Given the description of an element on the screen output the (x, y) to click on. 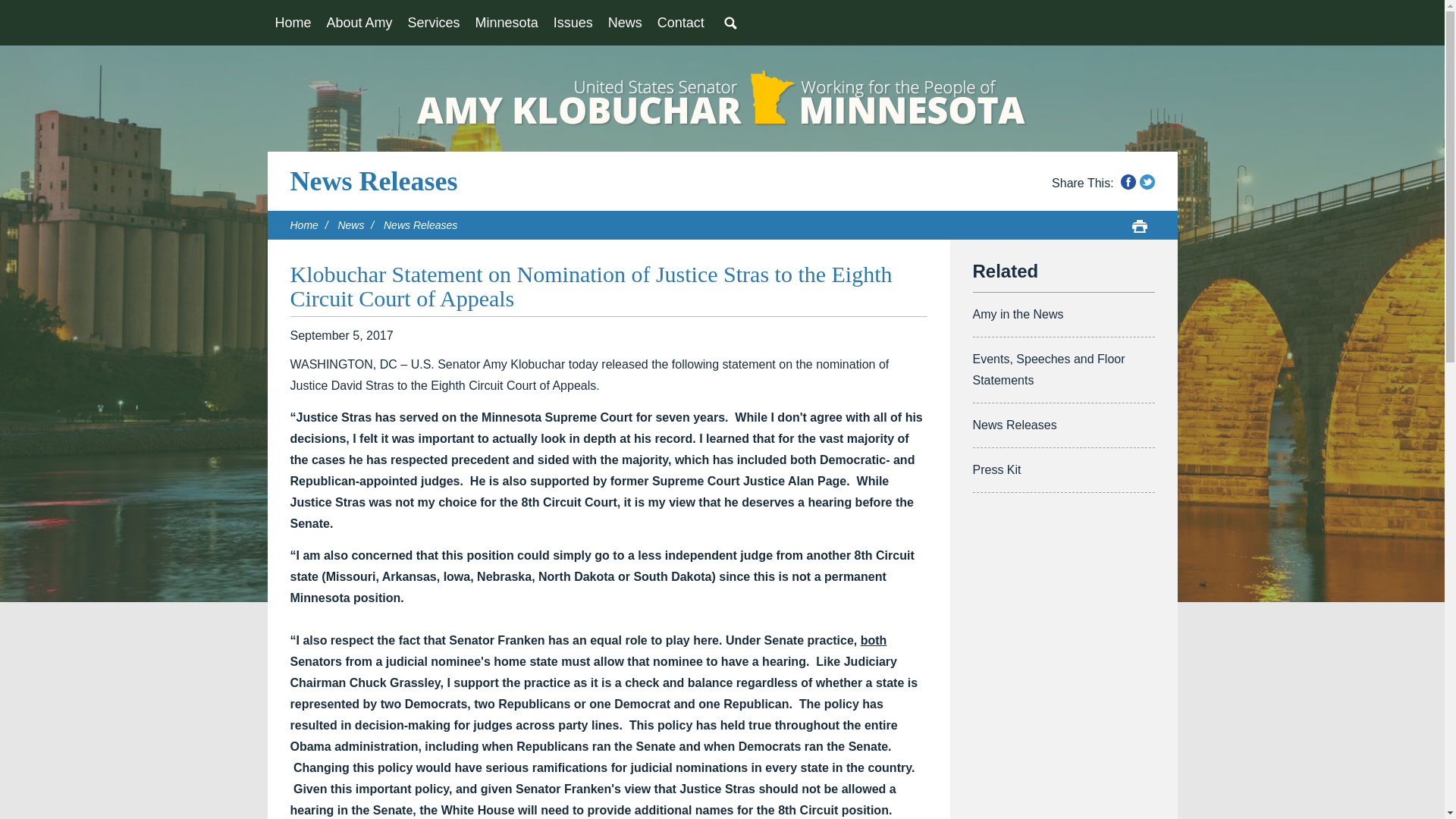
Services (433, 22)
Minnesota (506, 22)
Issues (572, 22)
Home (292, 22)
About Amy (359, 22)
